Given the description of an element on the screen output the (x, y) to click on. 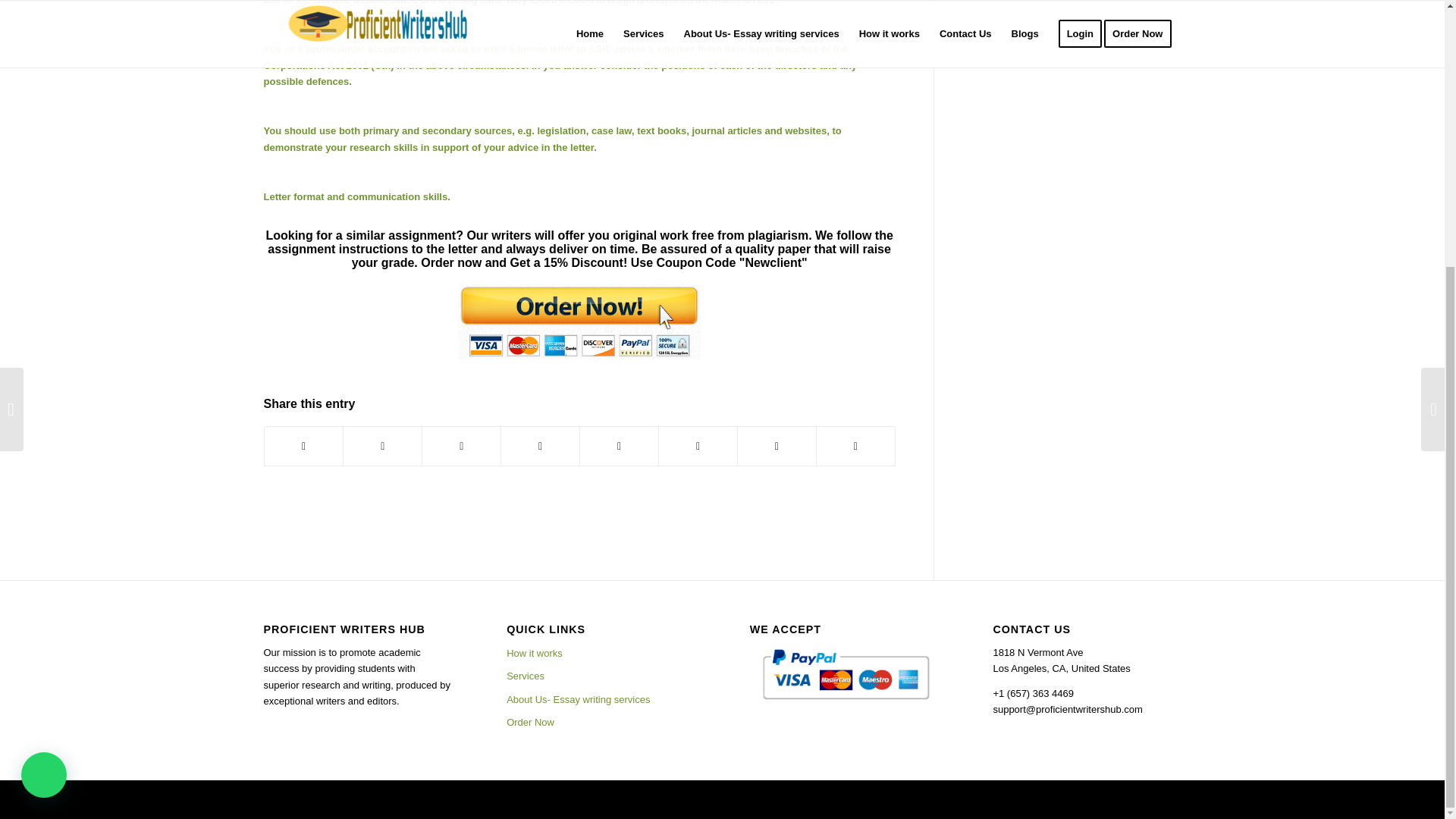
About Us- Essay writing services (600, 699)
Order Now (600, 722)
How it works (600, 653)
Services (600, 676)
